Given the description of an element on the screen output the (x, y) to click on. 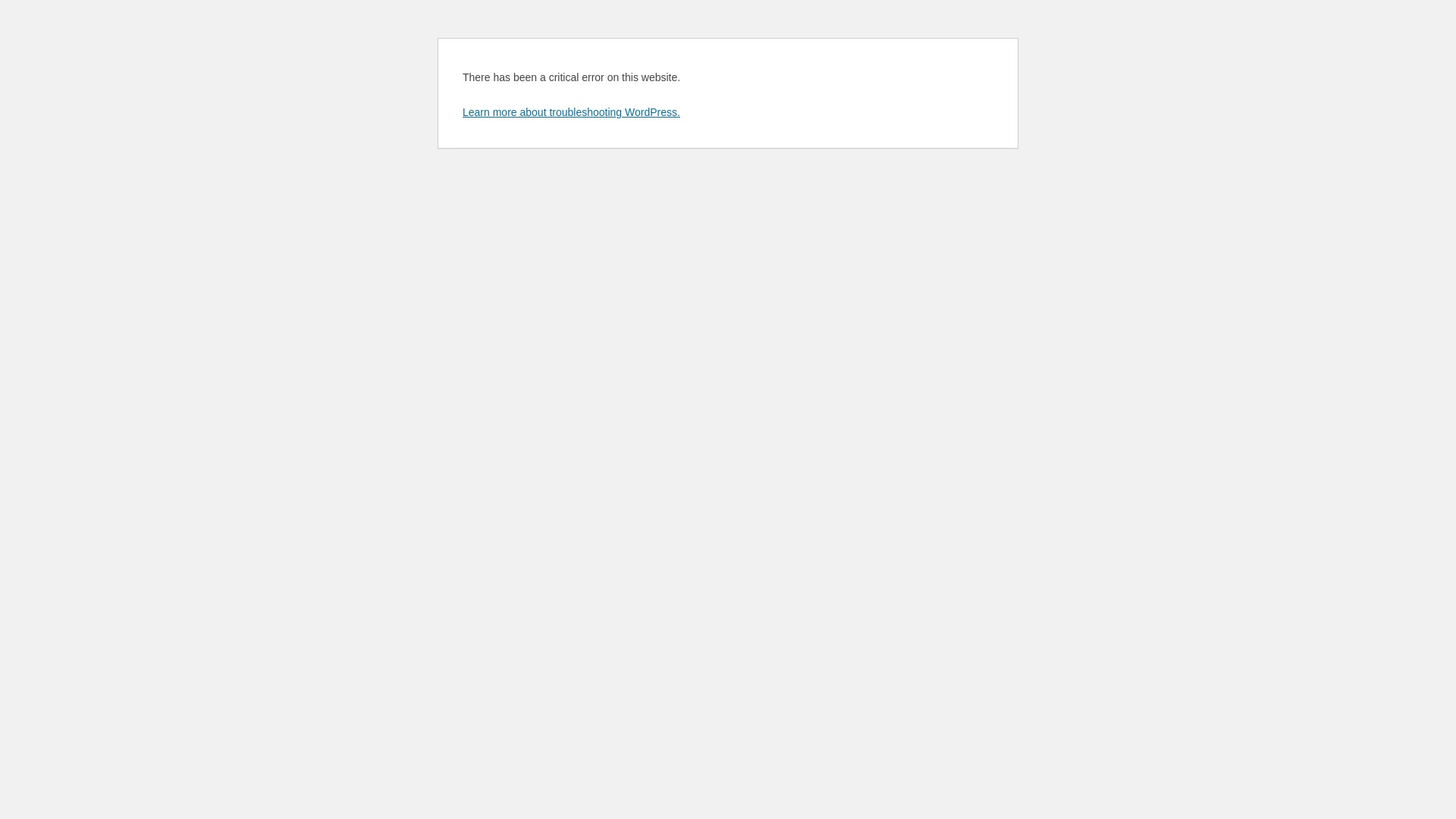
Learn more about troubleshooting WordPress. Element type: text (571, 112)
